Given the description of an element on the screen output the (x, y) to click on. 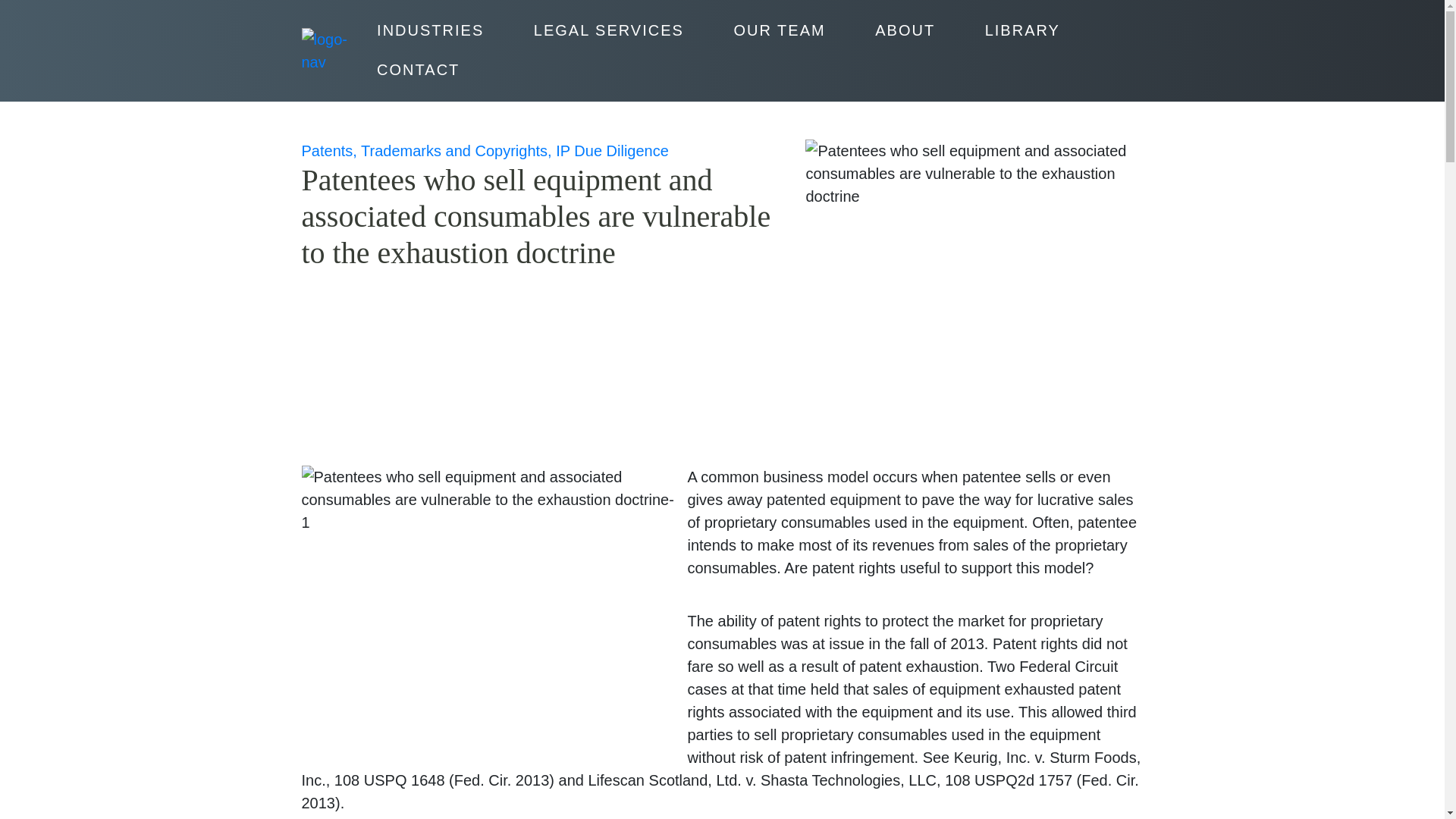
CONTACT (417, 70)
ABOUT (904, 30)
LIBRARY (1022, 30)
OUR TEAM (778, 30)
INDUSTRIES (429, 30)
Patents, Trademarks and Copyrights, (428, 150)
IP Due Diligence (612, 150)
